Given the description of an element on the screen output the (x, y) to click on. 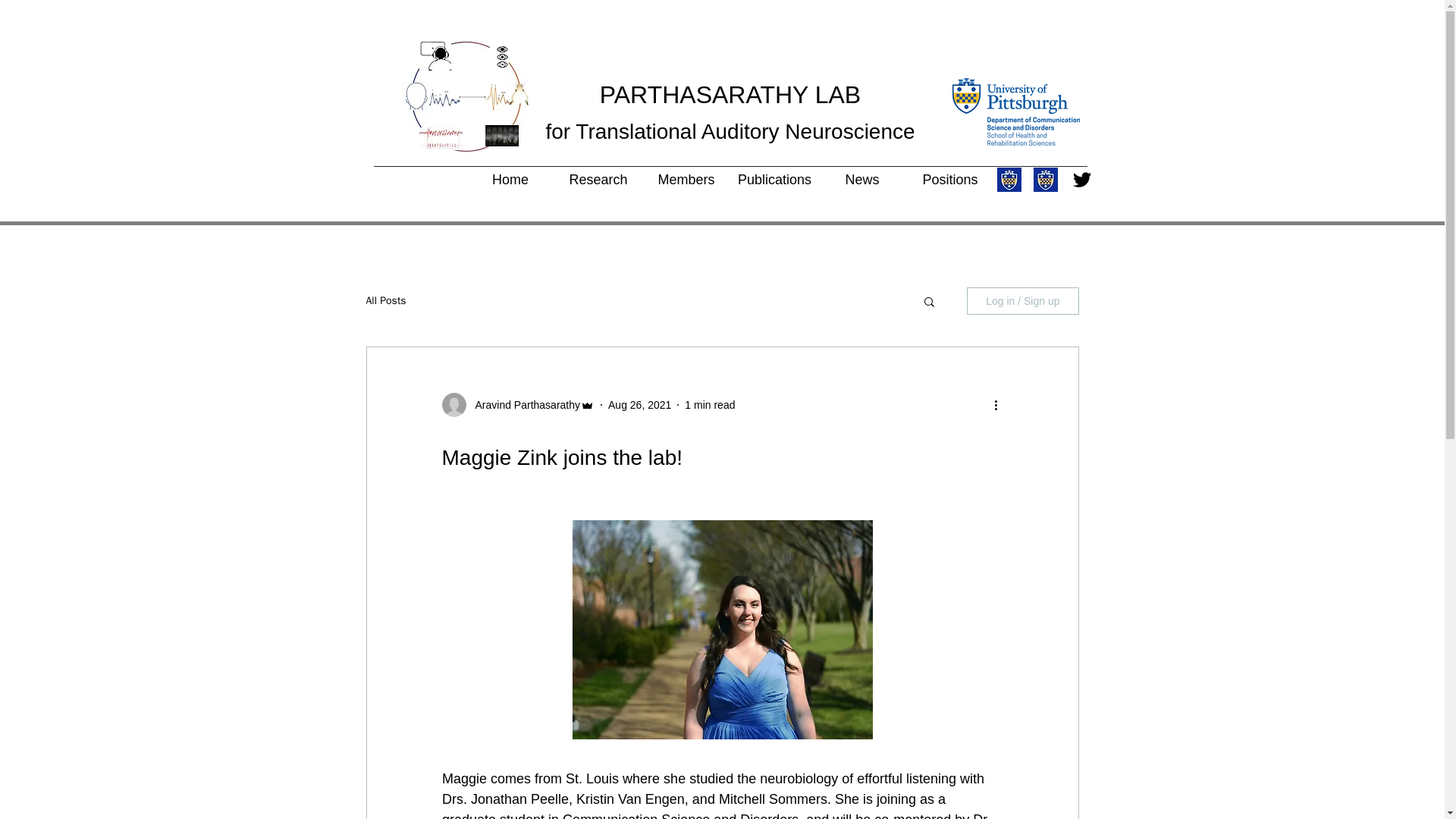
Aravind Parthasarathy (522, 405)
PARTHASARATHY LAB (729, 94)
Members (686, 179)
News (861, 179)
Research (598, 179)
Aug 26, 2021 (639, 404)
All Posts (385, 300)
Positions (949, 179)
1 min read (709, 404)
Home (509, 179)
Publications (774, 179)
